Given the description of an element on the screen output the (x, y) to click on. 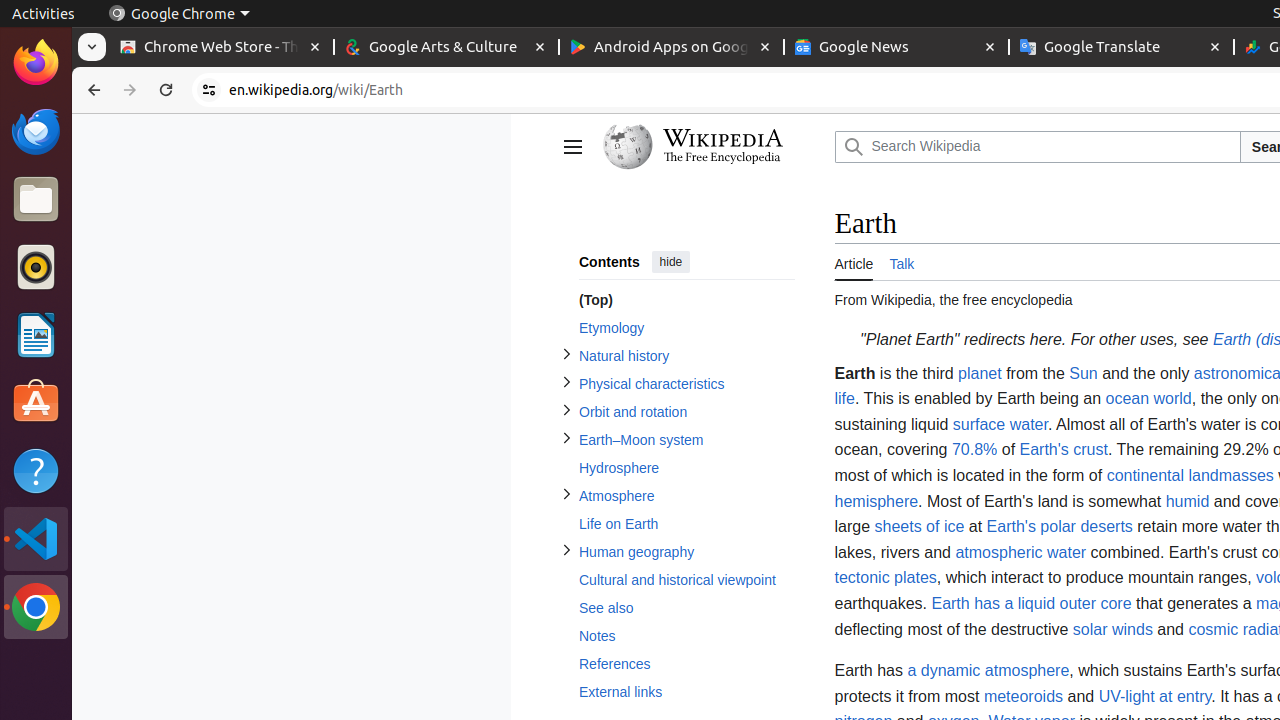
Help Element type: push-button (36, 470)
Toggle Atmosphere subsection Element type: push-button (566, 493)
deserts Element type: link (1106, 527)
surface water Element type: link (1000, 423)
Thunderbird Mail Element type: push-button (36, 131)
